Given the description of an element on the screen output the (x, y) to click on. 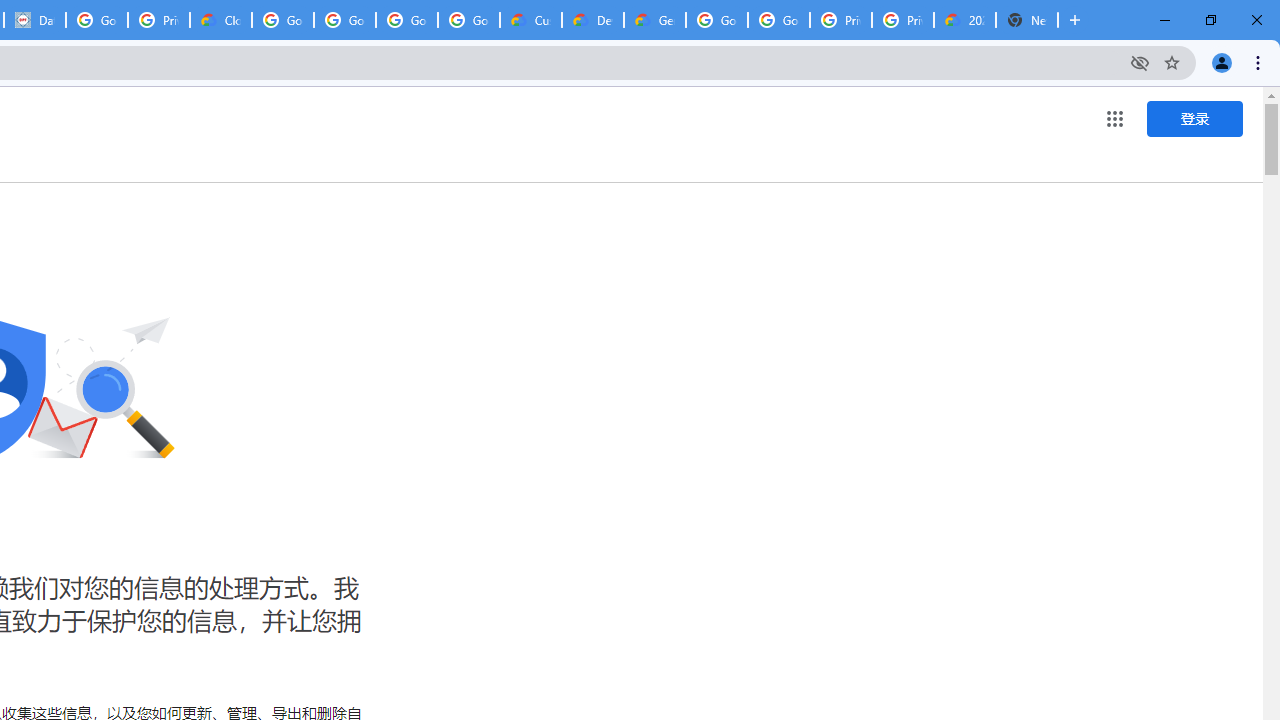
Google Workspace - Specific Terms (468, 20)
Google Workspace - Specific Terms (406, 20)
Gemini for Business and Developers | Google Cloud (654, 20)
